Given the description of an element on the screen output the (x, y) to click on. 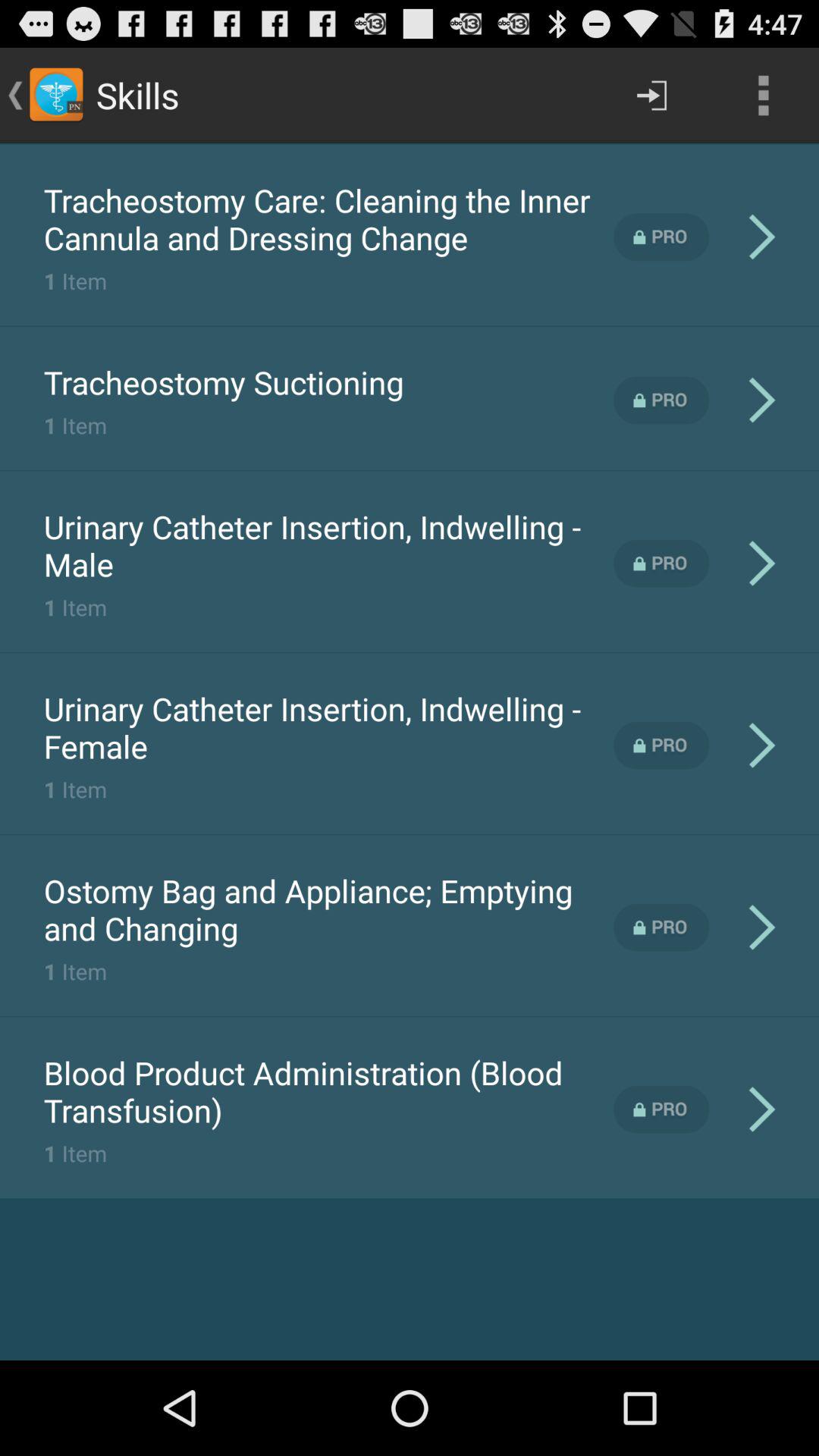
toggle pro version (661, 927)
